Given the description of an element on the screen output the (x, y) to click on. 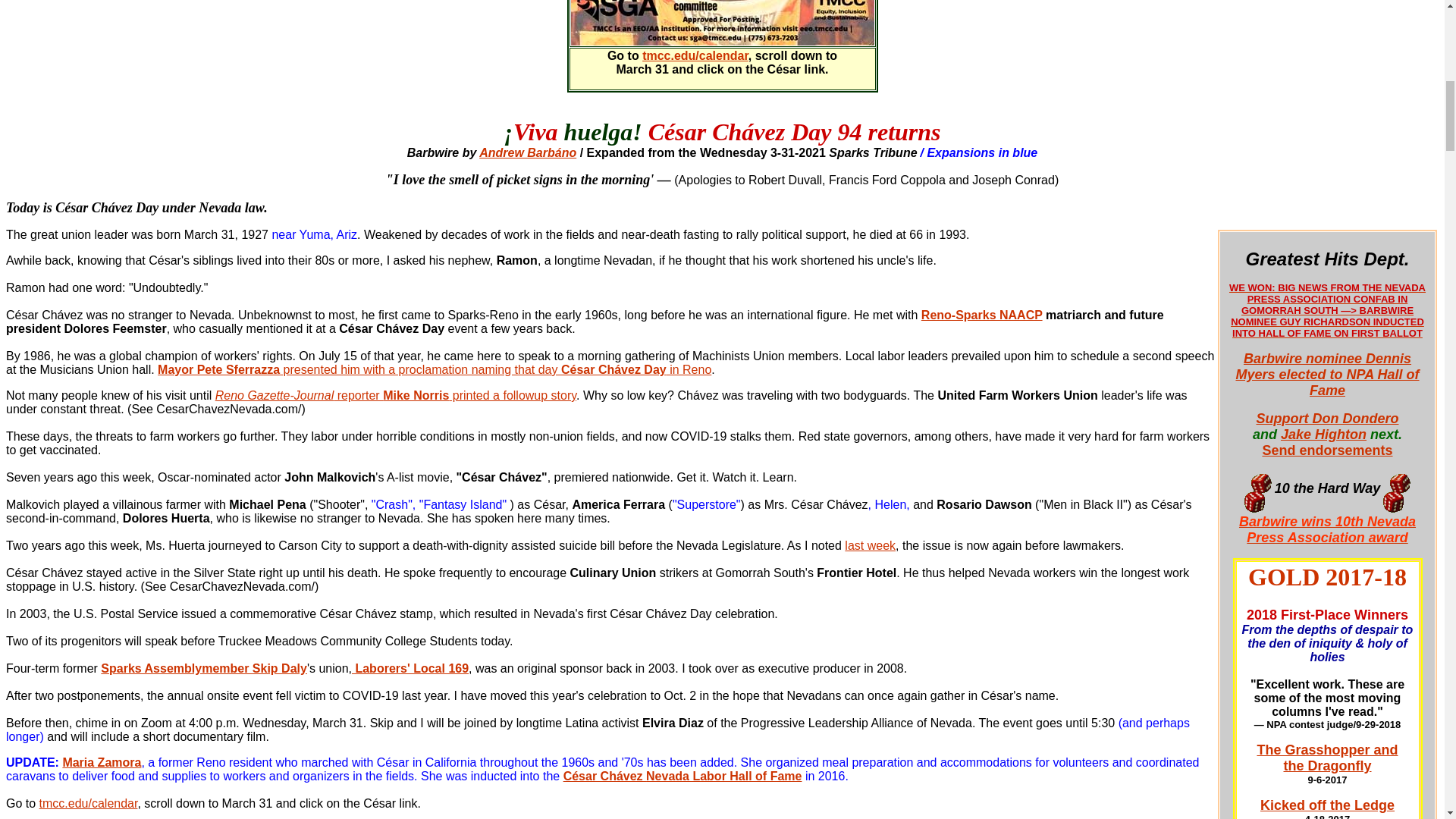
Support Don Dondero (1326, 418)
Jake Highton (1324, 434)
Send endorsements (1326, 450)
Barbwire nominee Dennis Myers elected to NPA Hall of Fame (1326, 757)
Kicked off the Ledge (1326, 374)
Barbwire wins 10th Nevada Press Association award (1327, 805)
